Given the description of an element on the screen output the (x, y) to click on. 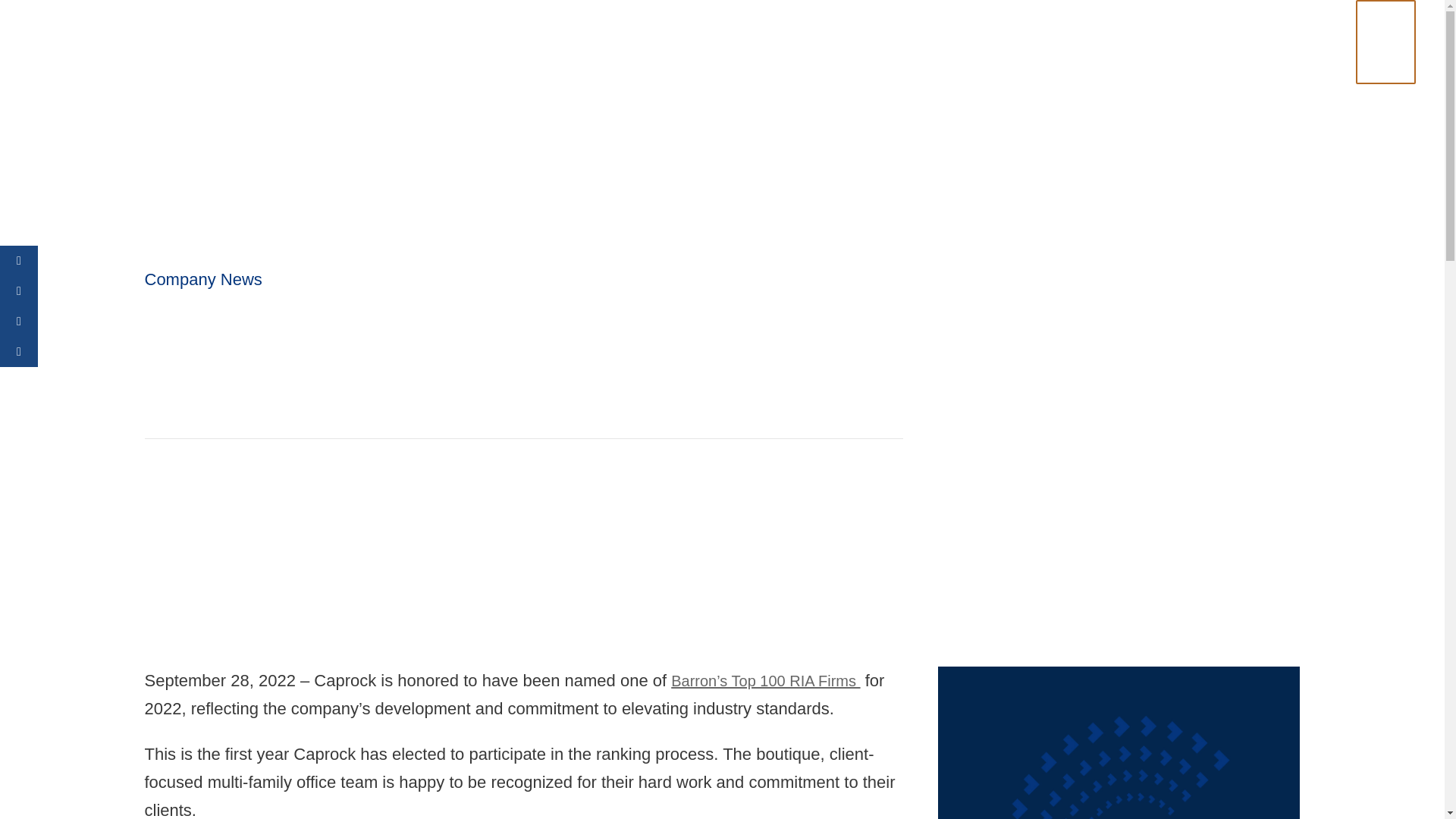
MENU (1397, 29)
Caprock C Icon (1118, 742)
Company News (203, 279)
